Given the description of an element on the screen output the (x, y) to click on. 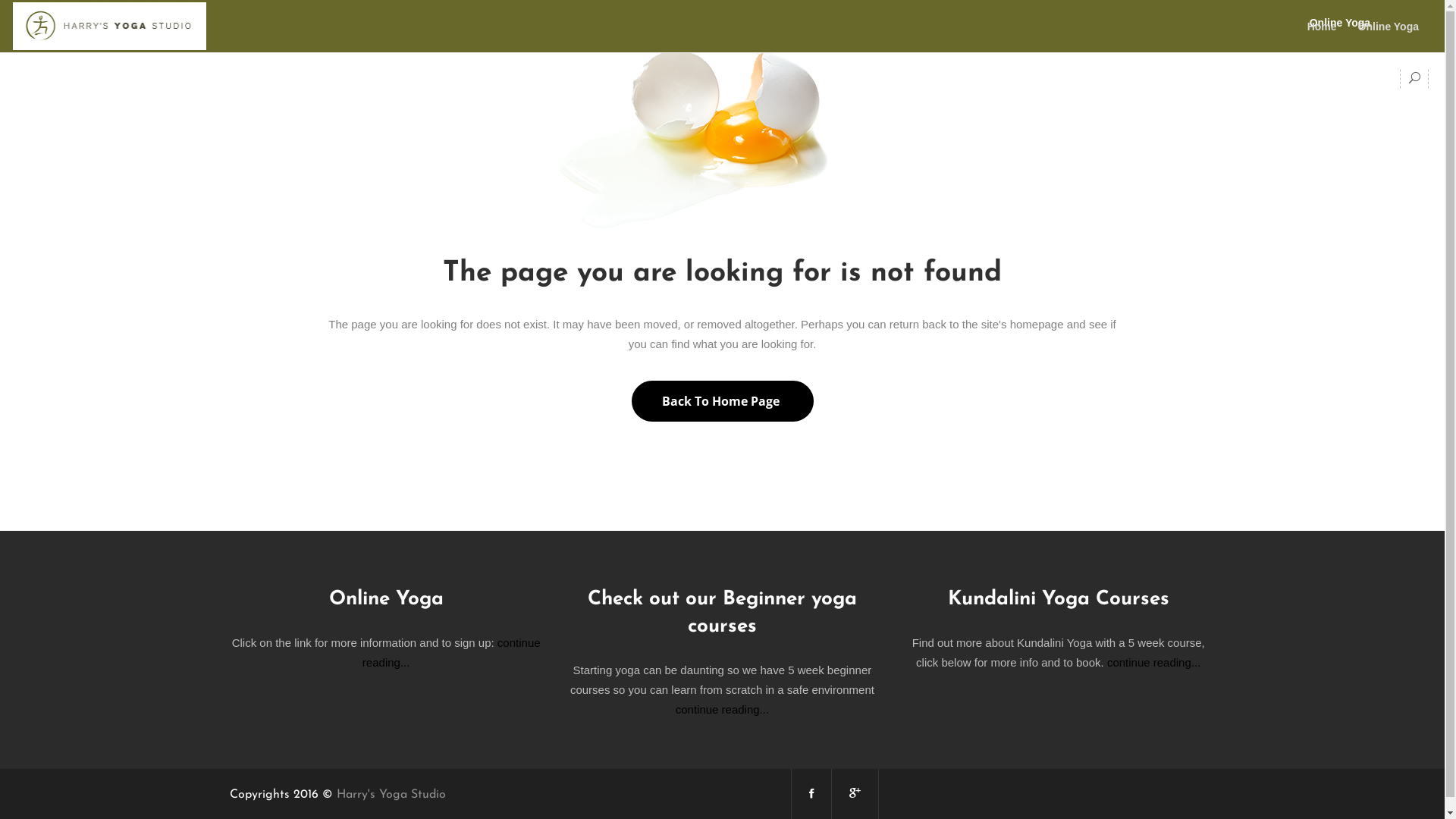
Back To Home Page Element type: text (721, 400)
Home Element type: text (1321, 26)
Online Yoga Element type: text (1339, 22)
continue reading... Element type: text (721, 708)
continue reading... Element type: text (451, 652)
Search Element type: text (1385, 128)
continue reading... Element type: text (1153, 661)
Online Yoga Element type: text (1388, 26)
